Given the description of an element on the screen output the (x, y) to click on. 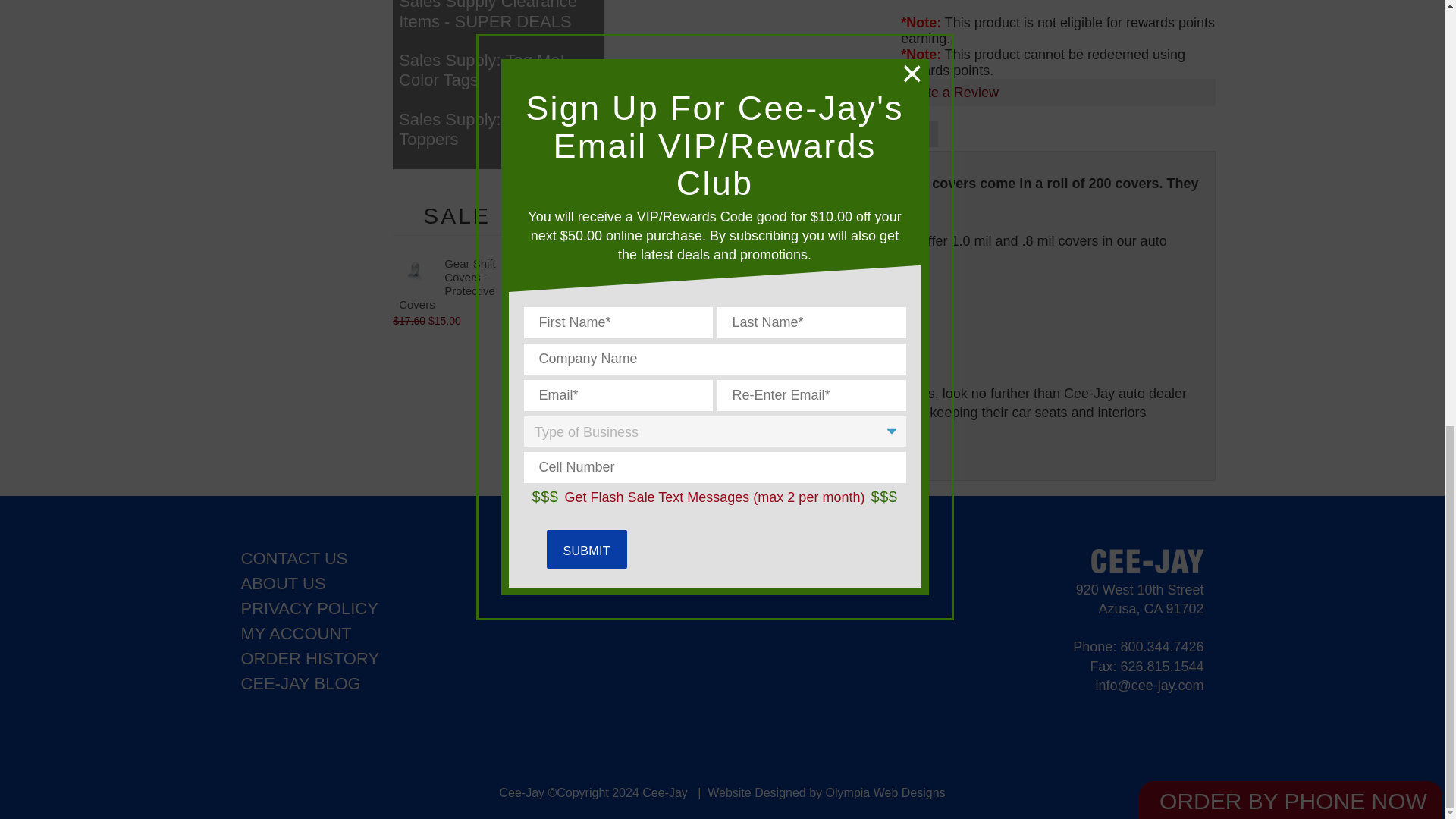
Olympia Web Designs - Peggy Buckham (884, 792)
Gear Shift Covers - Protective Covers (415, 269)
